Given the description of an element on the screen output the (x, y) to click on. 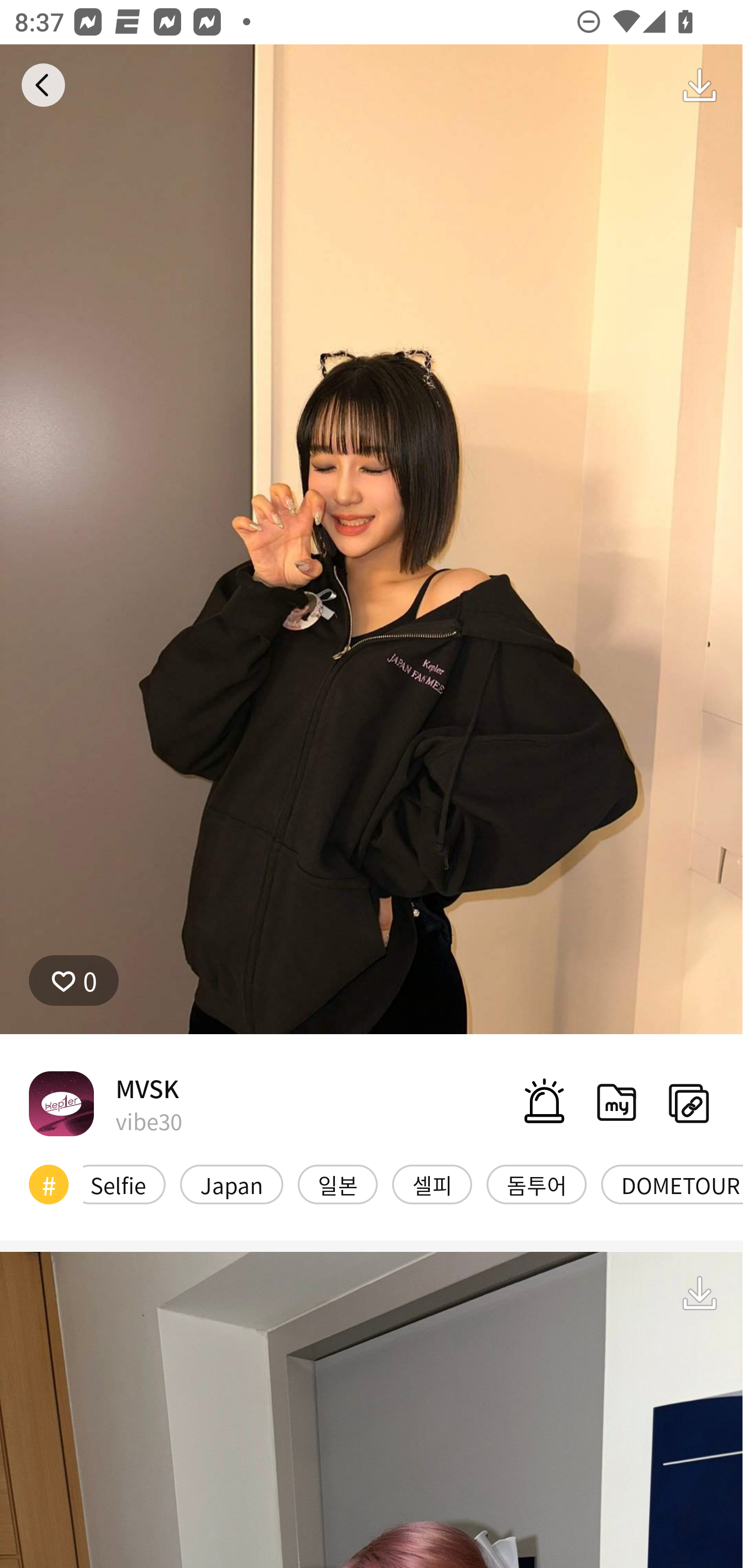
0 (73, 980)
MVSK vibe30 (105, 1102)
Selfie (124, 1184)
Japan (231, 1184)
일본 (337, 1184)
셀피 (431, 1184)
돔투어 (536, 1184)
DOMETOUR (672, 1184)
